Given the description of an element on the screen output the (x, y) to click on. 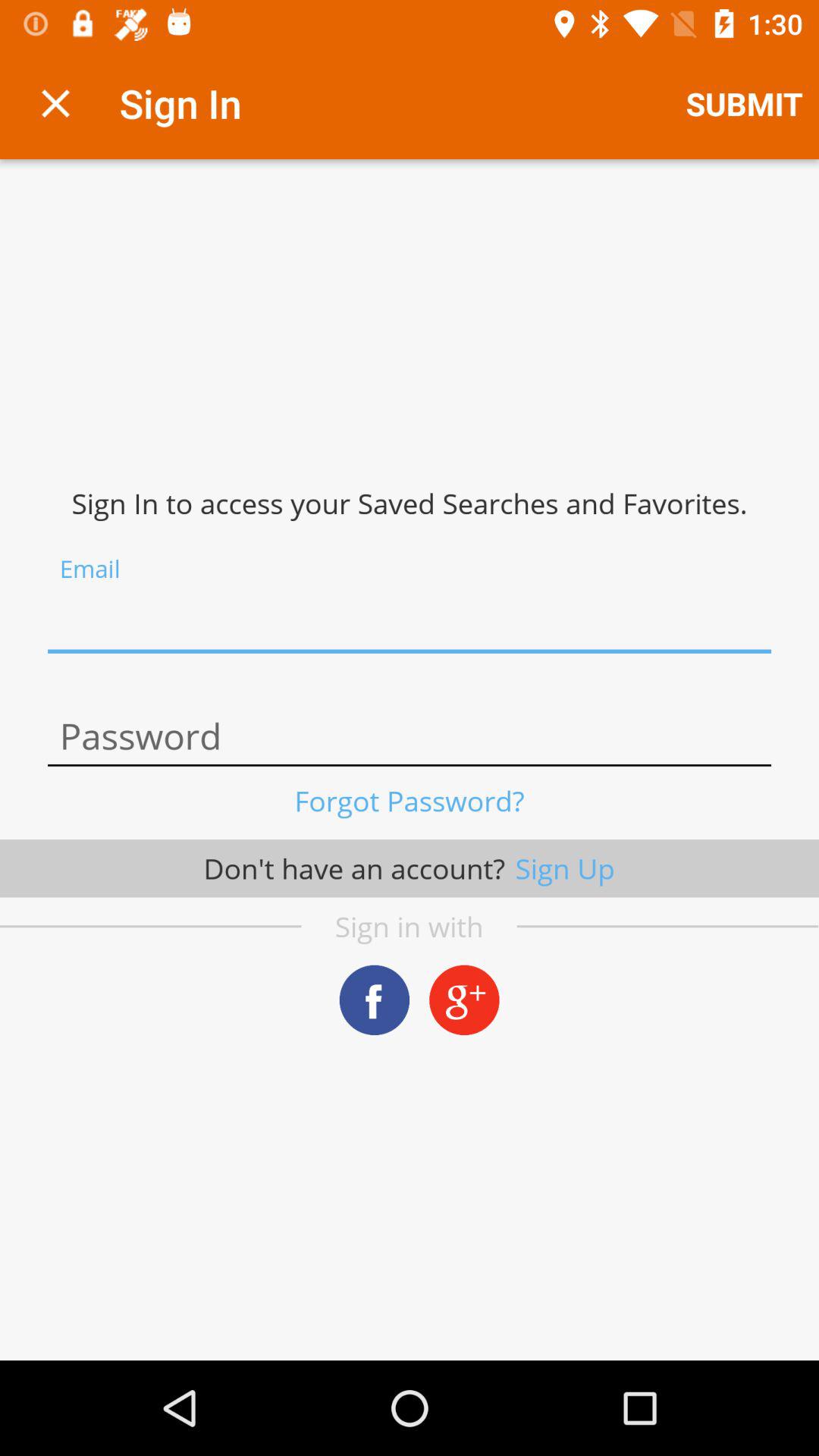
select email field (409, 622)
